Given the description of an element on the screen output the (x, y) to click on. 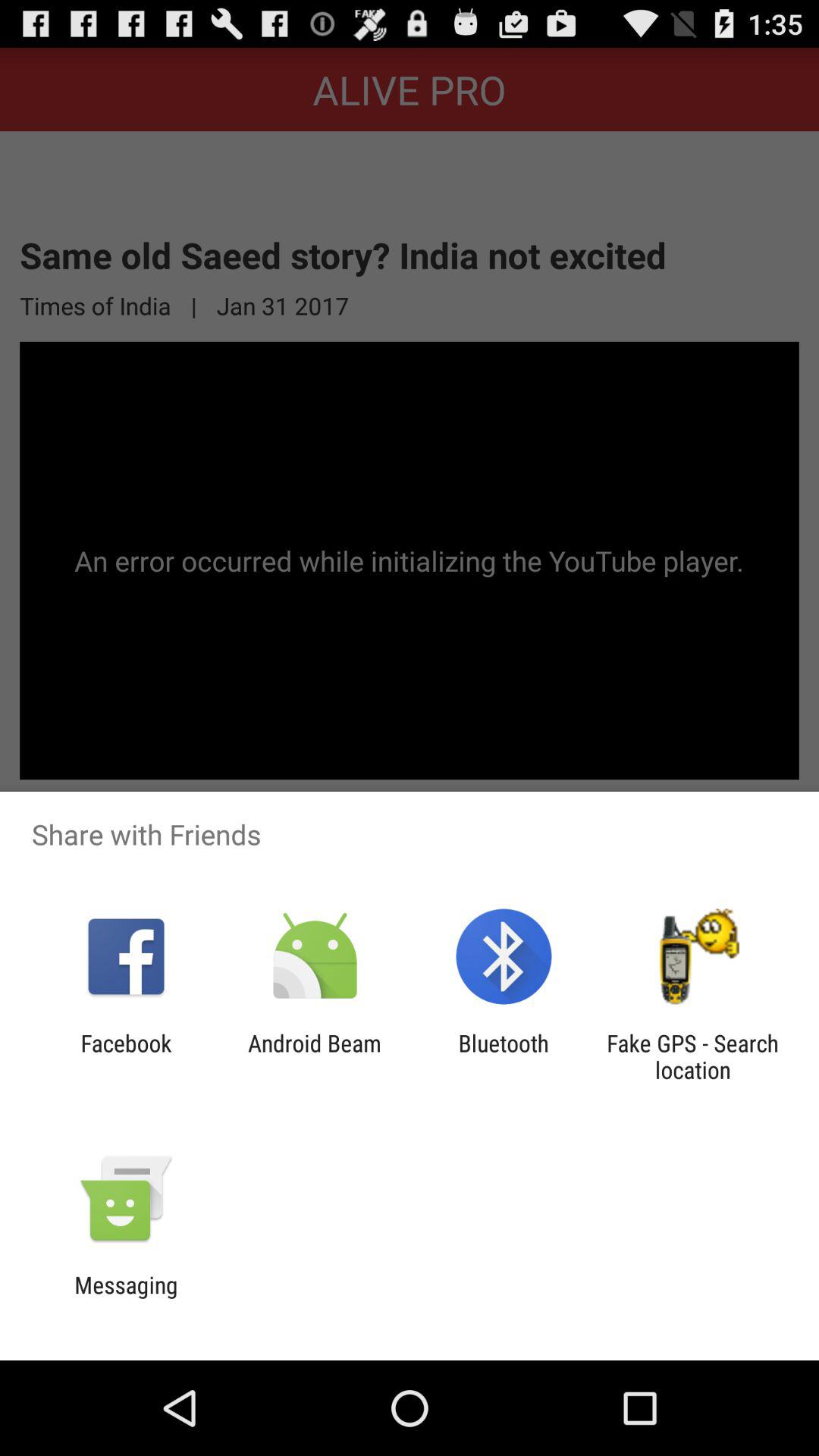
open the app next to the facebook app (314, 1056)
